Given the description of an element on the screen output the (x, y) to click on. 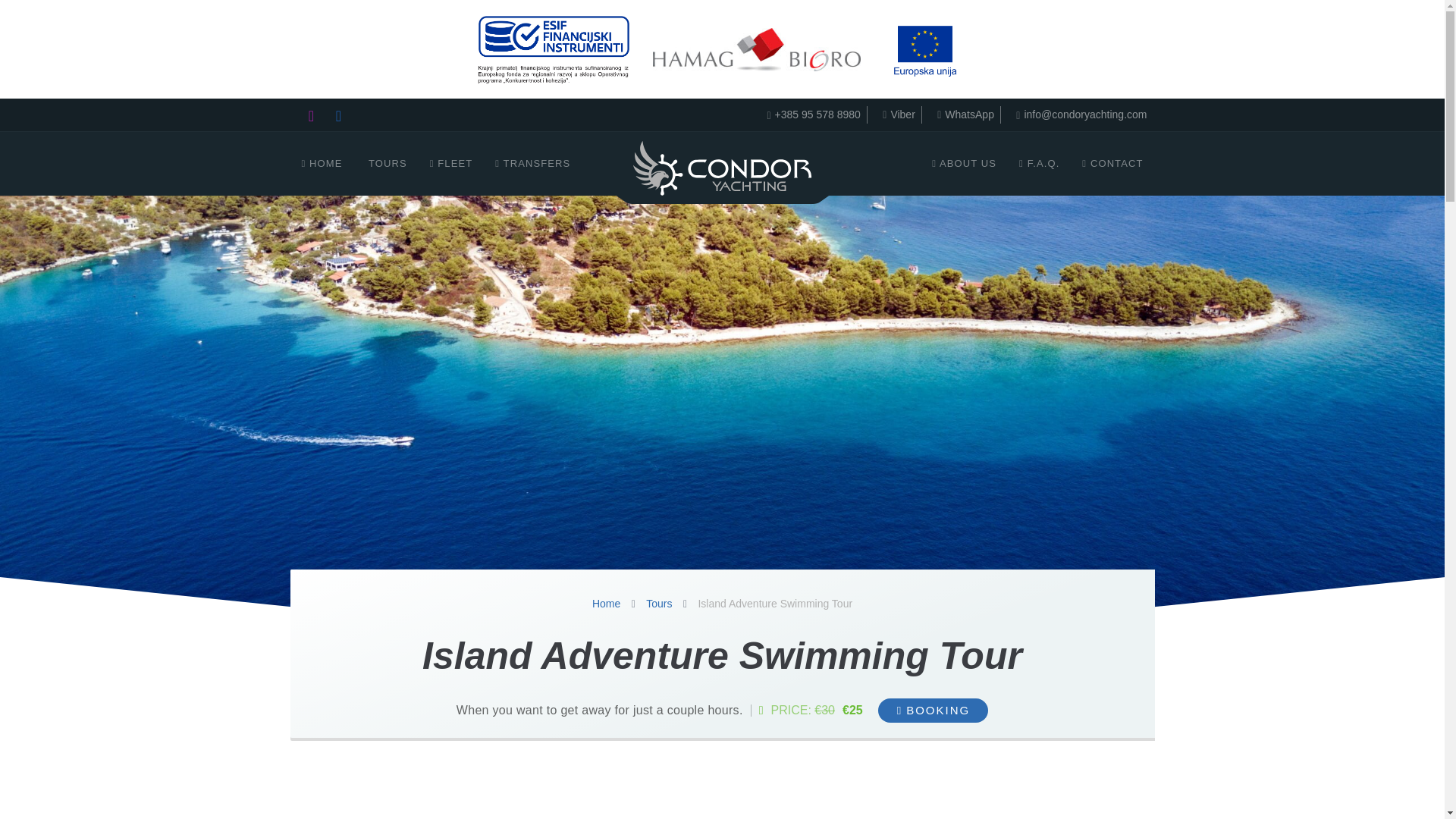
 CONTACT (1112, 163)
Viber (894, 114)
 FLEET (451, 163)
 HOME (321, 163)
WhatsApp (961, 114)
 TOURS (385, 163)
 TRANSFERS (531, 163)
 ABOUT US (963, 163)
 F.A.Q. (1038, 163)
